Given the description of an element on the screen output the (x, y) to click on. 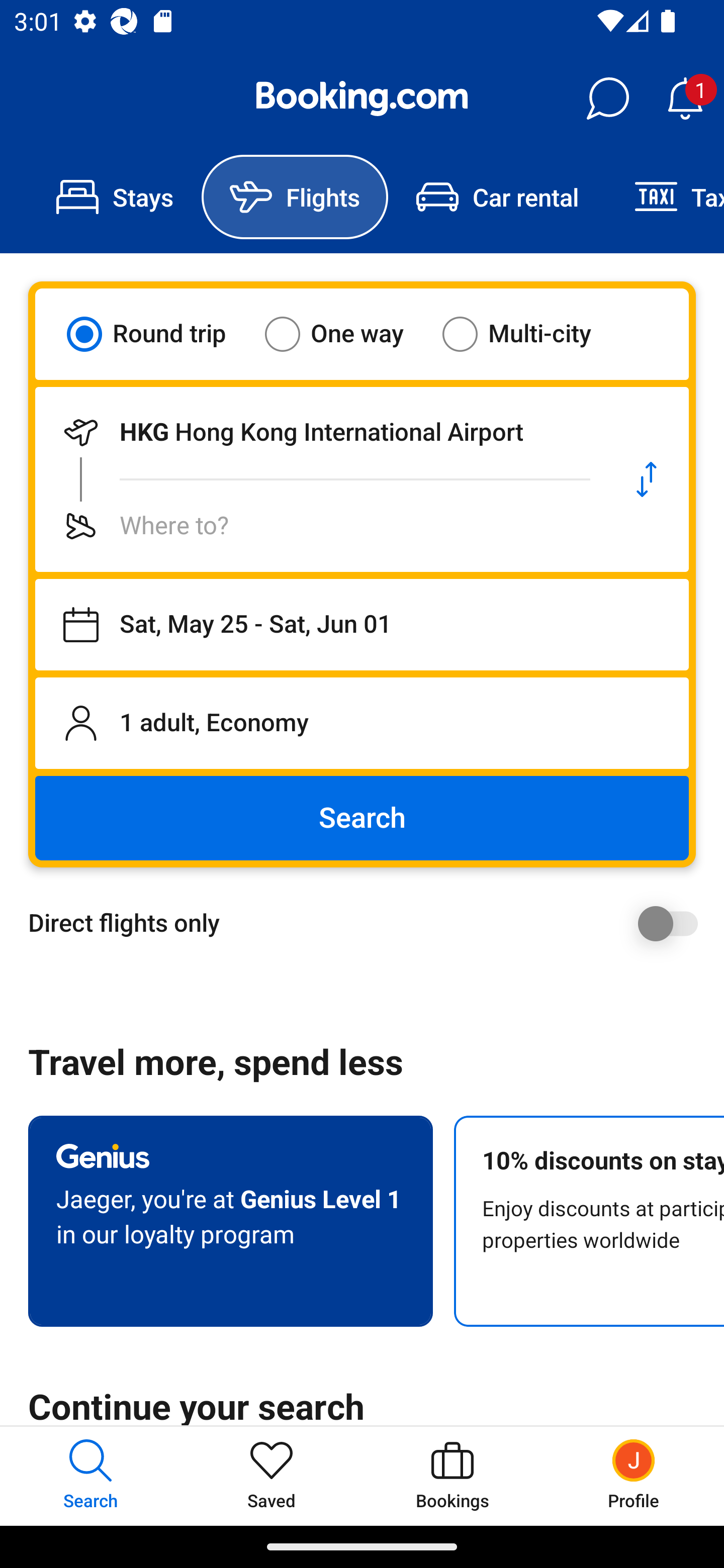
Messages (607, 98)
Notifications (685, 98)
Stays (114, 197)
Flights (294, 197)
Car rental (497, 197)
Taxi (665, 197)
One way (346, 333)
Multi-city (528, 333)
Departing from HKG Hong Kong International Airport (319, 432)
Swap departure location and destination (646, 479)
Flying to  (319, 525)
Departing on Sat, May 25, returning on Sat, Jun 01 (361, 624)
1 adult, Economy (361, 722)
Search (361, 818)
Direct flights only (369, 923)
Saved (271, 1475)
Bookings (452, 1475)
Profile (633, 1475)
